Given the description of an element on the screen output the (x, y) to click on. 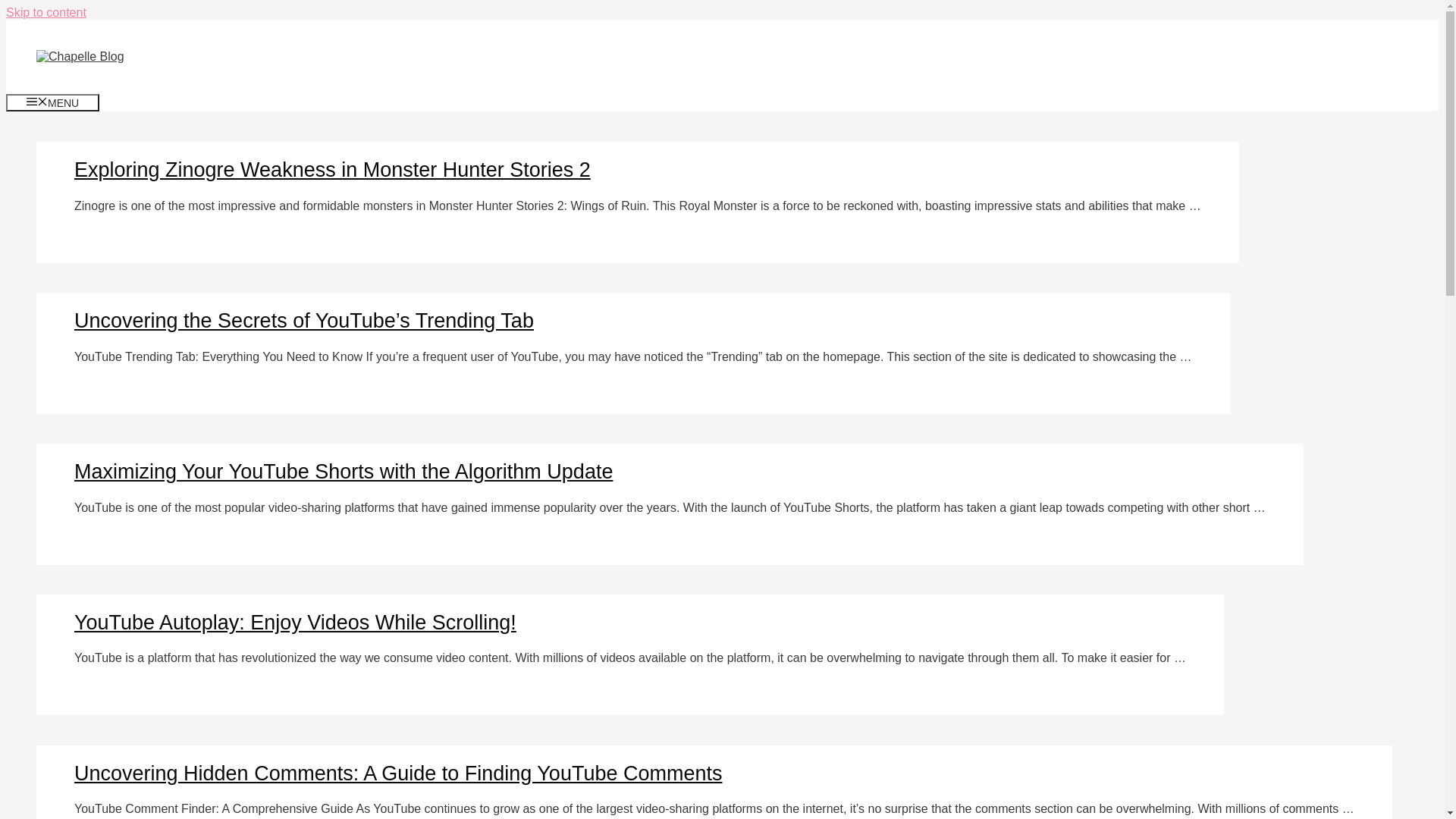
MENU Element type: text (52, 102)
Maximizing Your YouTube Shorts with the Algorithm Update Element type: text (343, 471)
YouTube Autoplay: Enjoy Videos While Scrolling! Element type: text (295, 622)
Skip to content Element type: text (46, 12)
Exploring Zinogre Weakness in Monster Hunter Stories 2 Element type: text (332, 169)
